Given the description of an element on the screen output the (x, y) to click on. 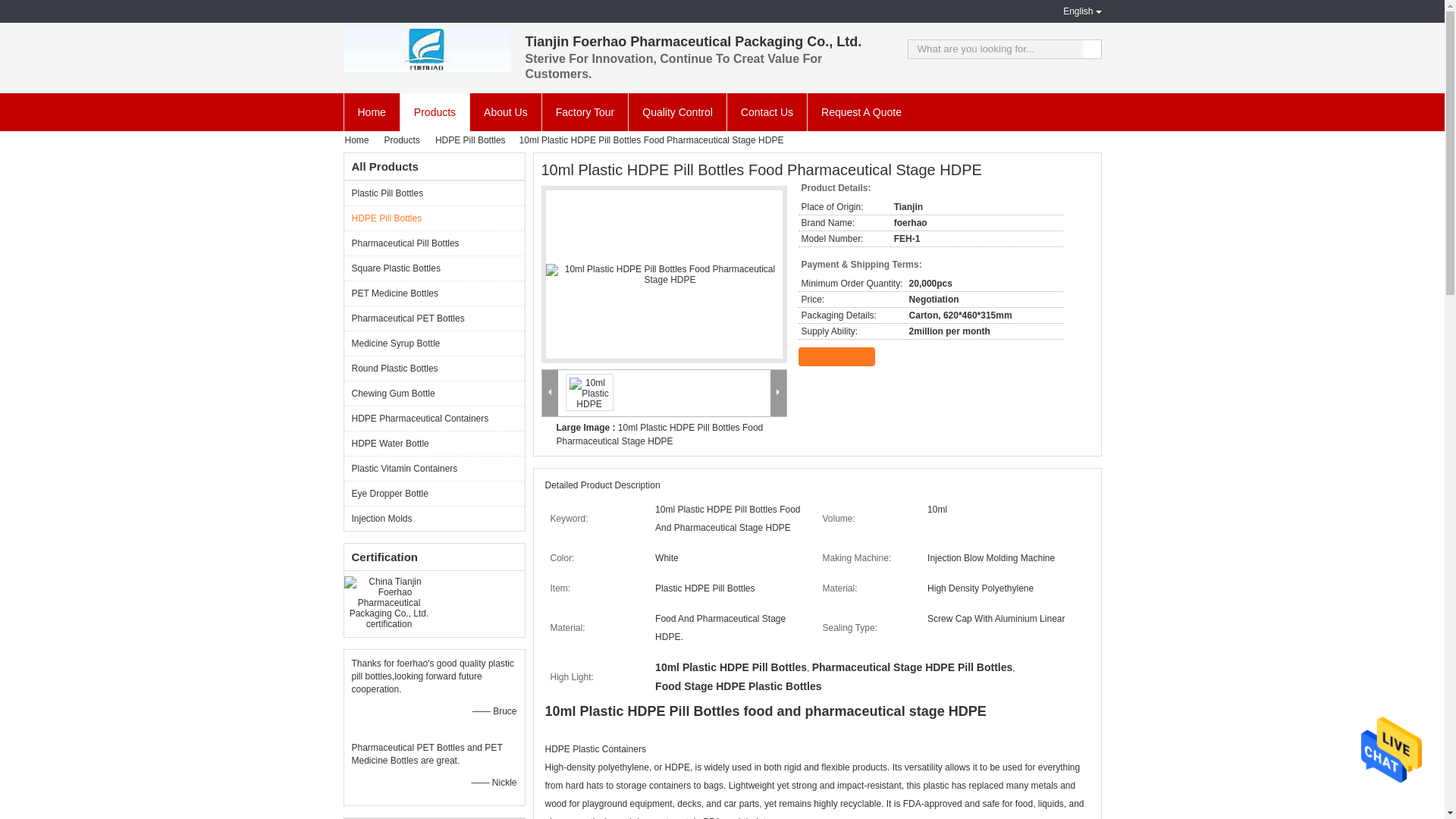
Contact Us (766, 112)
Plastic Pill Bottles (433, 192)
Pharmaceutical PET Bottles (433, 317)
English (1070, 10)
Pharmaceutical Pill Bottles (433, 242)
Square Plastic Bottles (433, 267)
Home (370, 112)
HDPE Pill Bottles (433, 217)
Home (360, 140)
PET Medicine Bottles (433, 292)
